Given the description of an element on the screen output the (x, y) to click on. 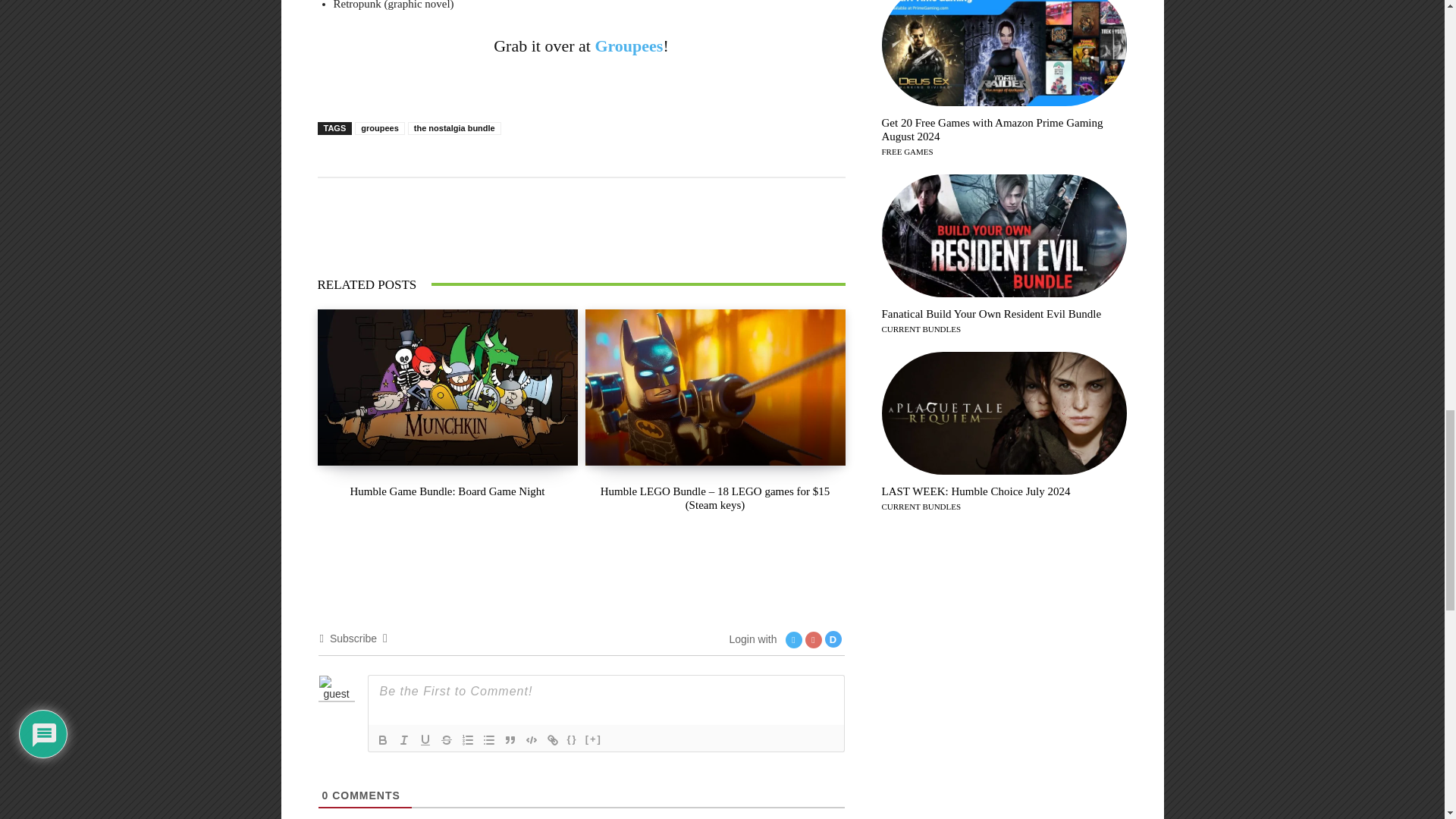
Groupees (628, 45)
the nostalgia bundle (453, 128)
groupees (379, 128)
